Given the description of an element on the screen output the (x, y) to click on. 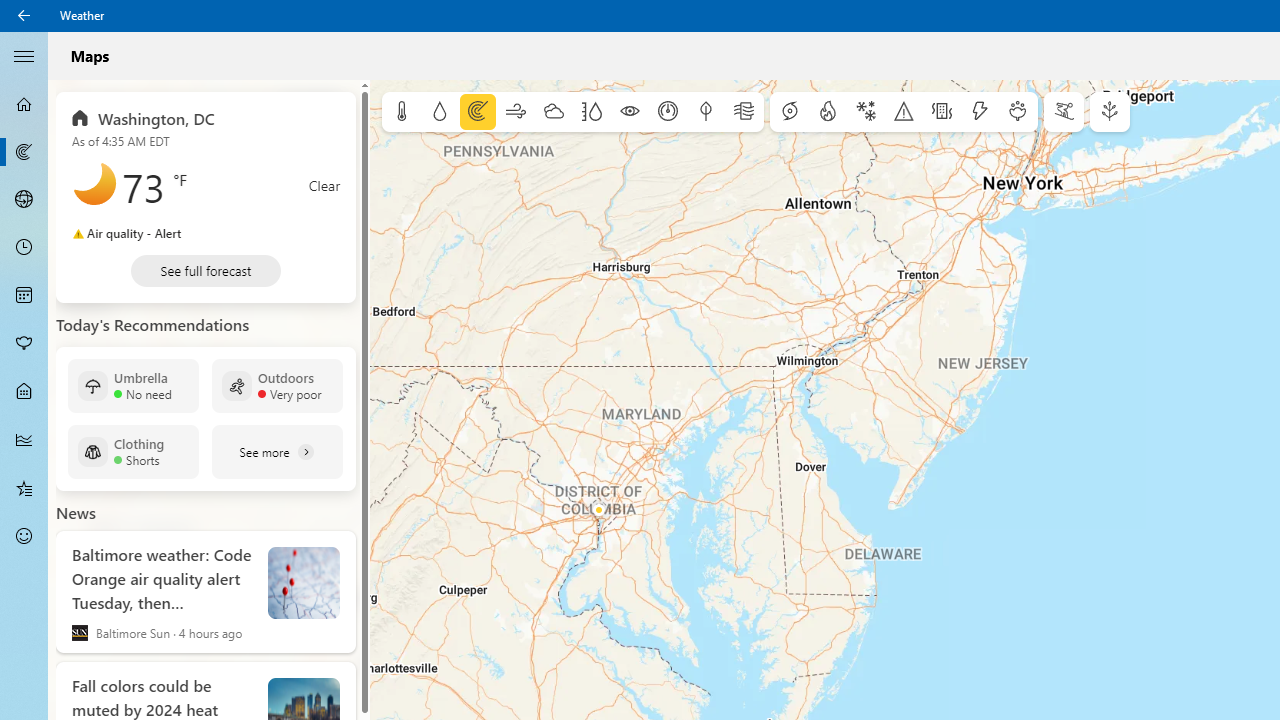
Monthly Forecast - Not Selected (24, 295)
Send Feedback - Not Selected (24, 535)
Pollen - Not Selected (24, 343)
Forecast - Not Selected (24, 103)
Historical Weather - Not Selected (24, 439)
Maps - Not Selected (24, 151)
Send Feedback - Not Selected (24, 535)
Collapse Navigation (24, 55)
Hourly Forecast - Not Selected (24, 247)
Back (24, 15)
Monthly Forecast - Not Selected (24, 295)
Favorites - Not Selected (24, 487)
Life - Not Selected (24, 391)
3D Maps - Not Selected (24, 199)
Favorites - Not Selected (24, 487)
